Given the description of an element on the screen output the (x, y) to click on. 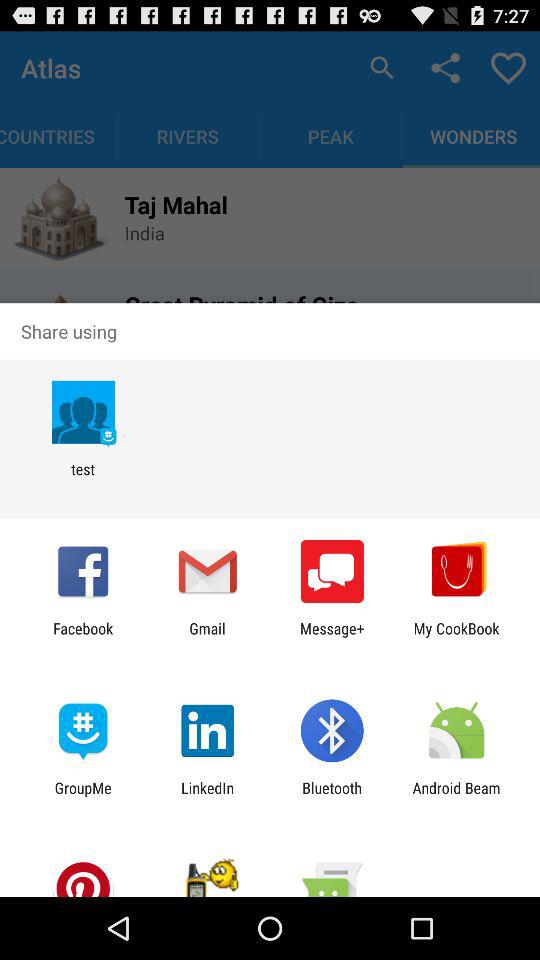
select icon next to bluetooth (207, 796)
